Given the description of an element on the screen output the (x, y) to click on. 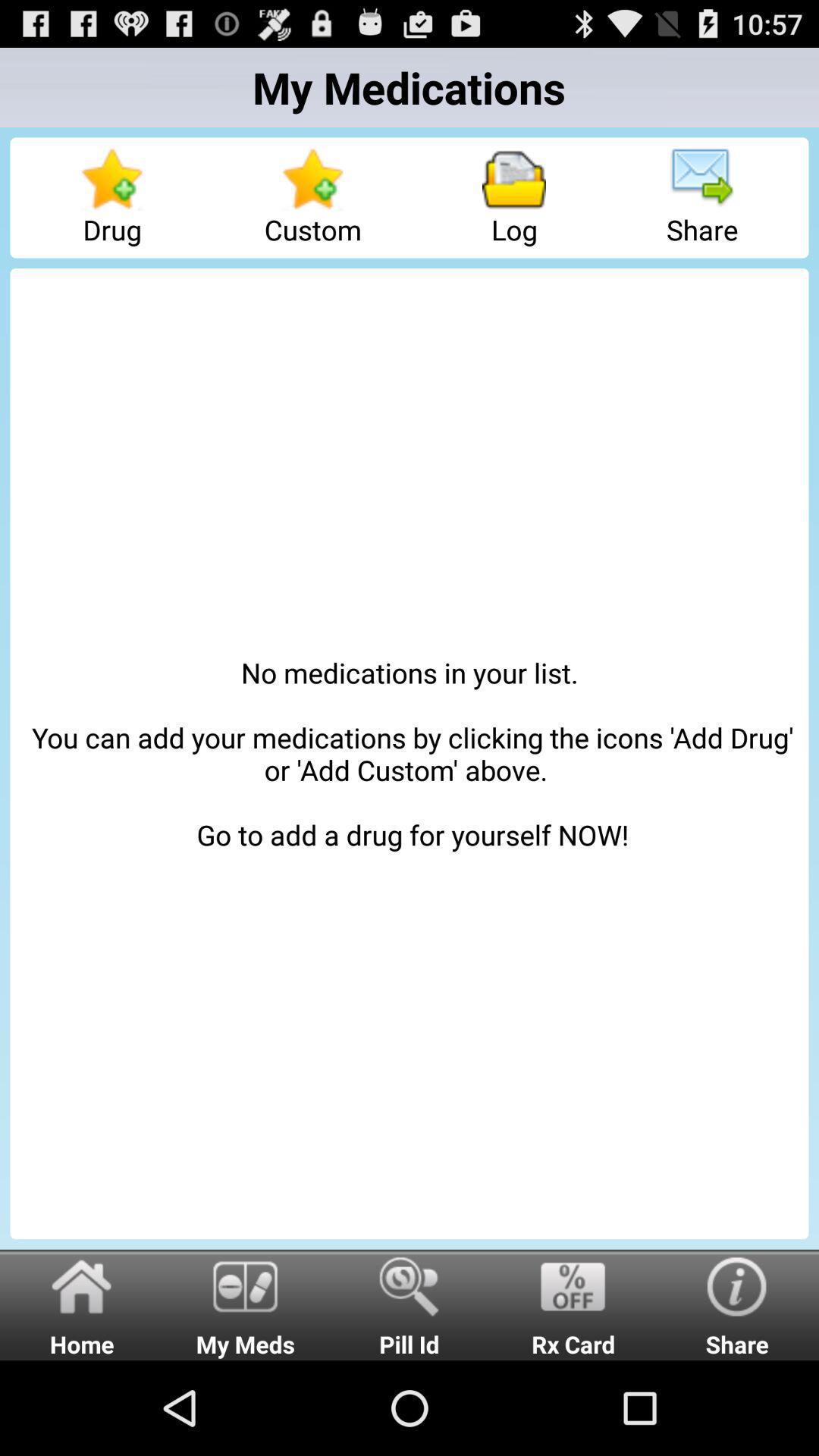
turn on my meds item (245, 1304)
